Given the description of an element on the screen output the (x, y) to click on. 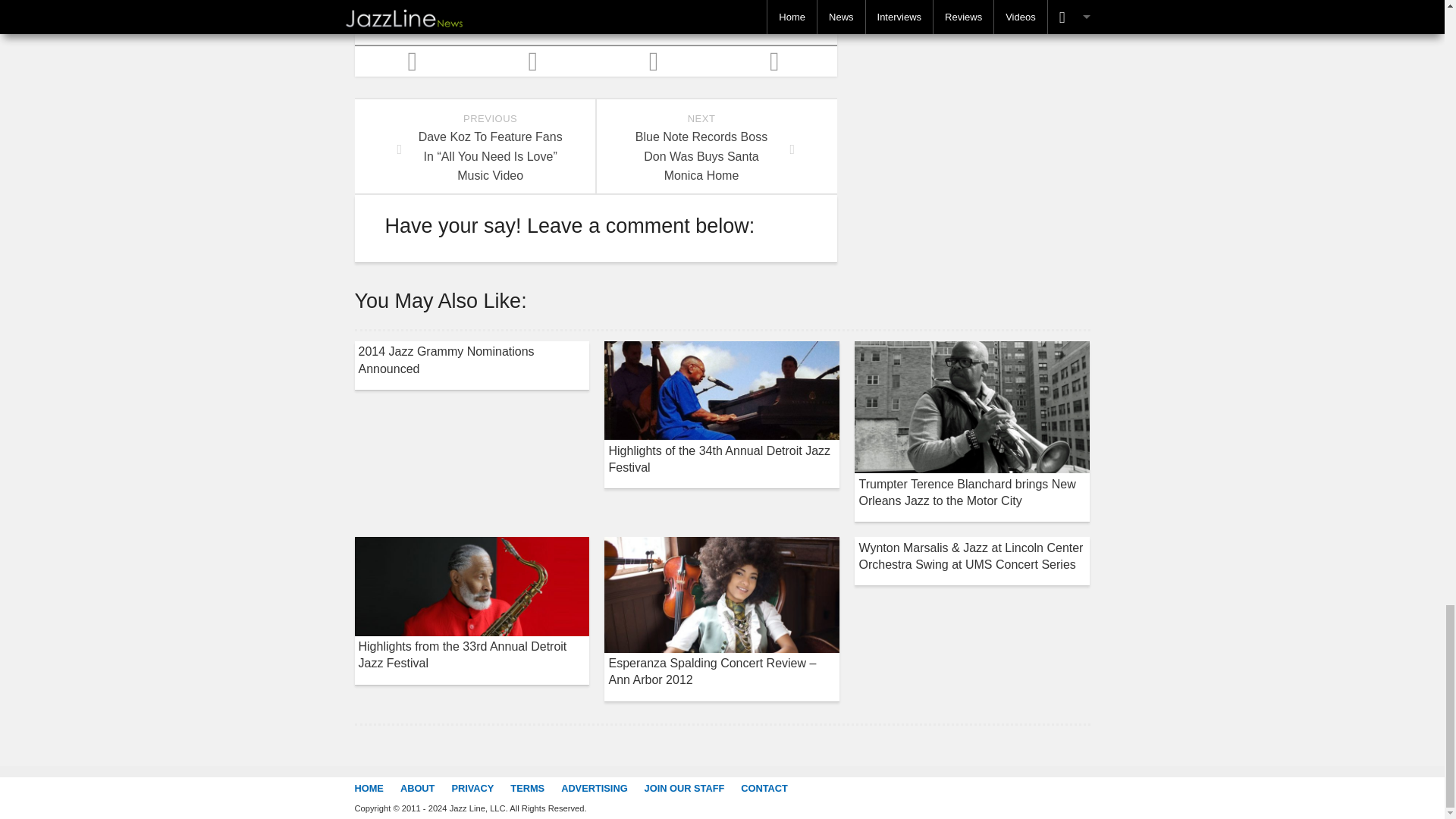
Share This Article on Facebook (535, 60)
Terence Blanchard (652, 16)
Dianne Reeves (700, 146)
Share This Article on Twitter (426, 16)
Share This Article via email (415, 60)
John Clayton (655, 60)
Gerald Clayton (573, 16)
Share This Article on Reddit (502, 16)
